Given the description of an element on the screen output the (x, y) to click on. 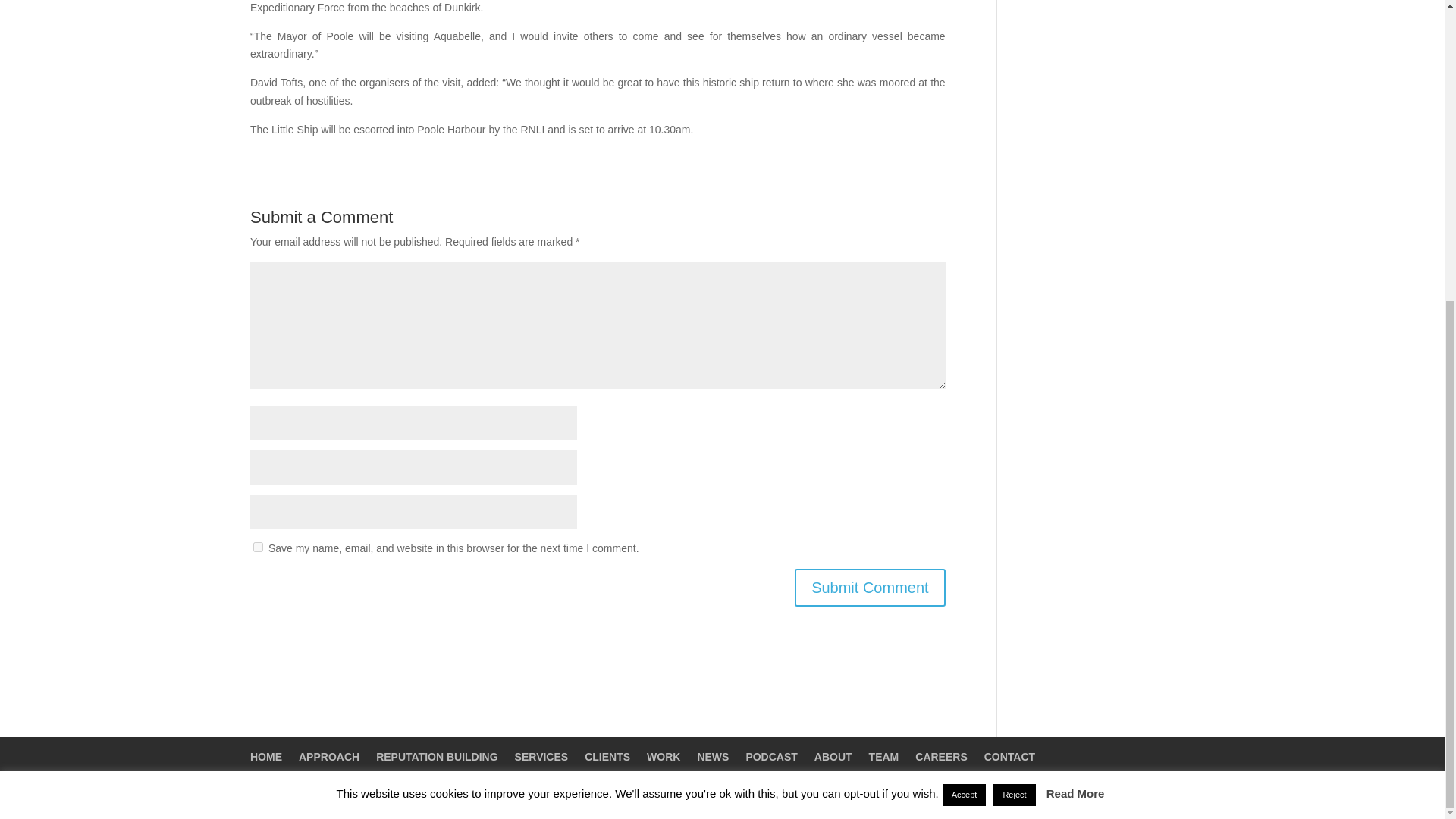
REPUTATION BUILDING (436, 756)
WORK (662, 756)
SERVICES (542, 756)
Submit Comment (869, 587)
Submit Comment (869, 587)
yes (258, 547)
APPROACH (328, 756)
CLIENTS (607, 756)
HOME (266, 756)
